Given the description of an element on the screen output the (x, y) to click on. 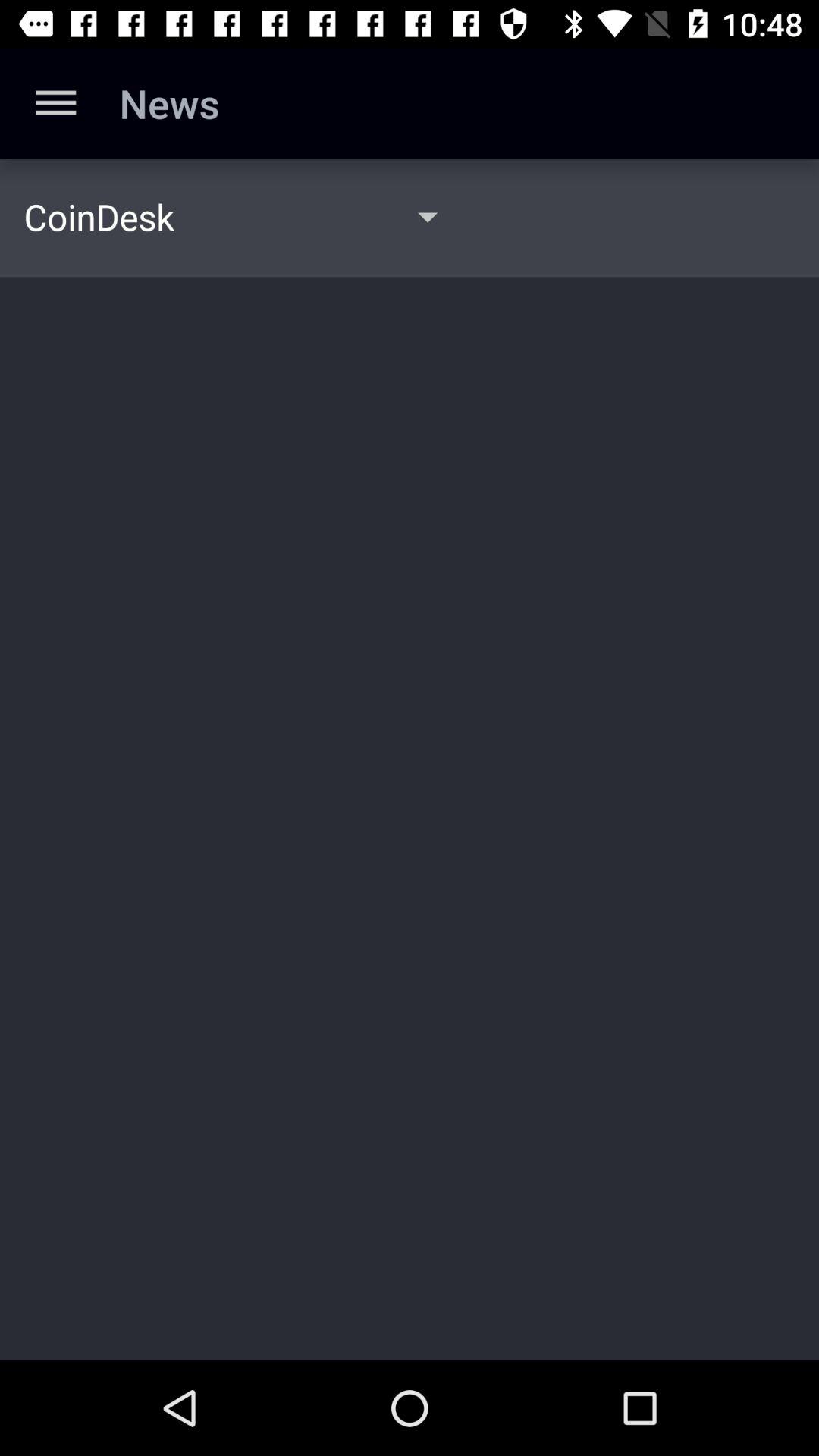
press the app to the left of news item (55, 103)
